Given the description of an element on the screen output the (x, y) to click on. 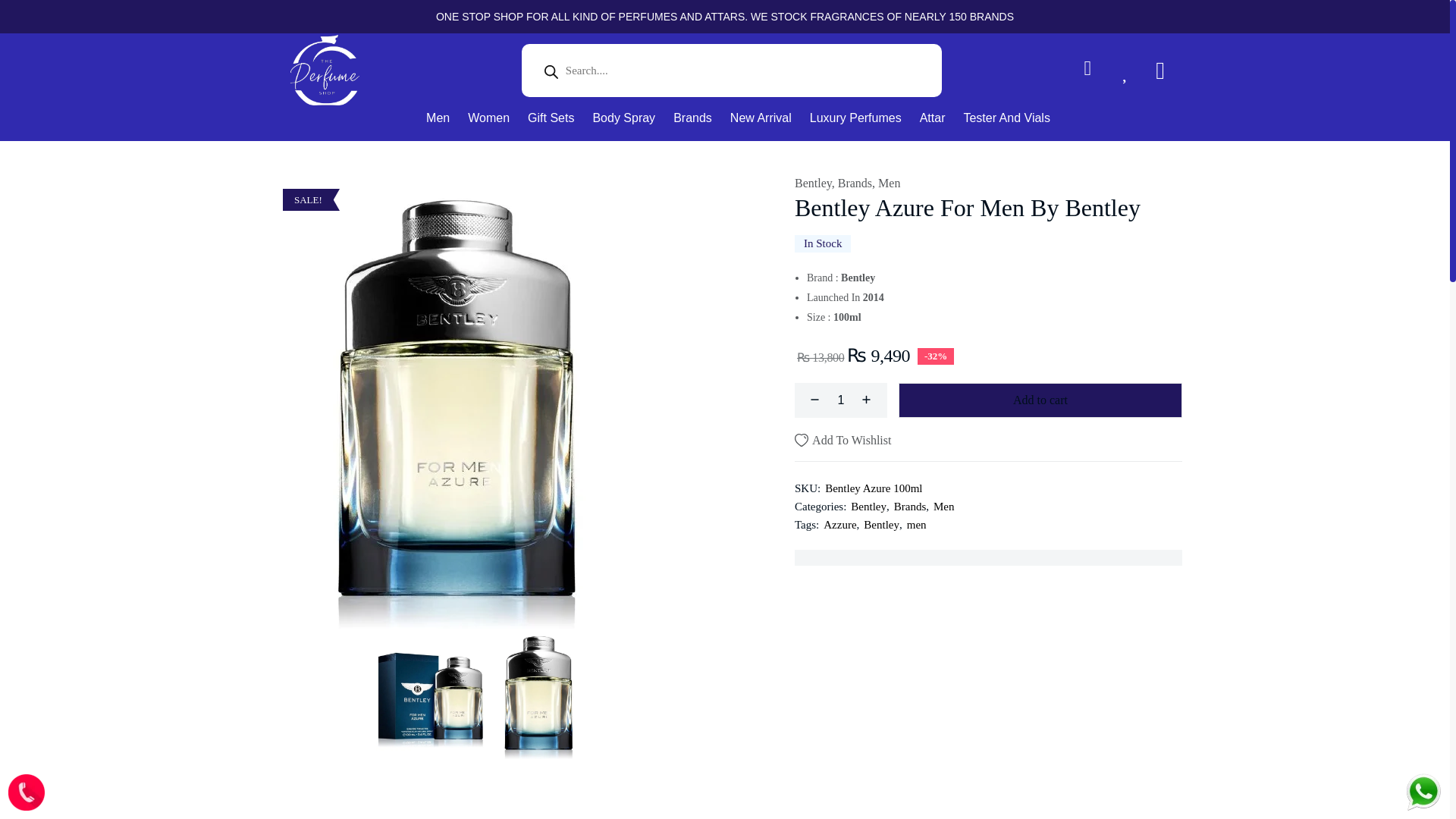
Body Spray (623, 117)
New Arrival (760, 117)
Luxury Perfumes (855, 117)
1 (840, 400)
Tester And Vials (1005, 117)
Men (437, 117)
Brands (691, 117)
Women (488, 117)
Qty (840, 400)
Gift Sets (550, 117)
Attar (933, 117)
